Given the description of an element on the screen output the (x, y) to click on. 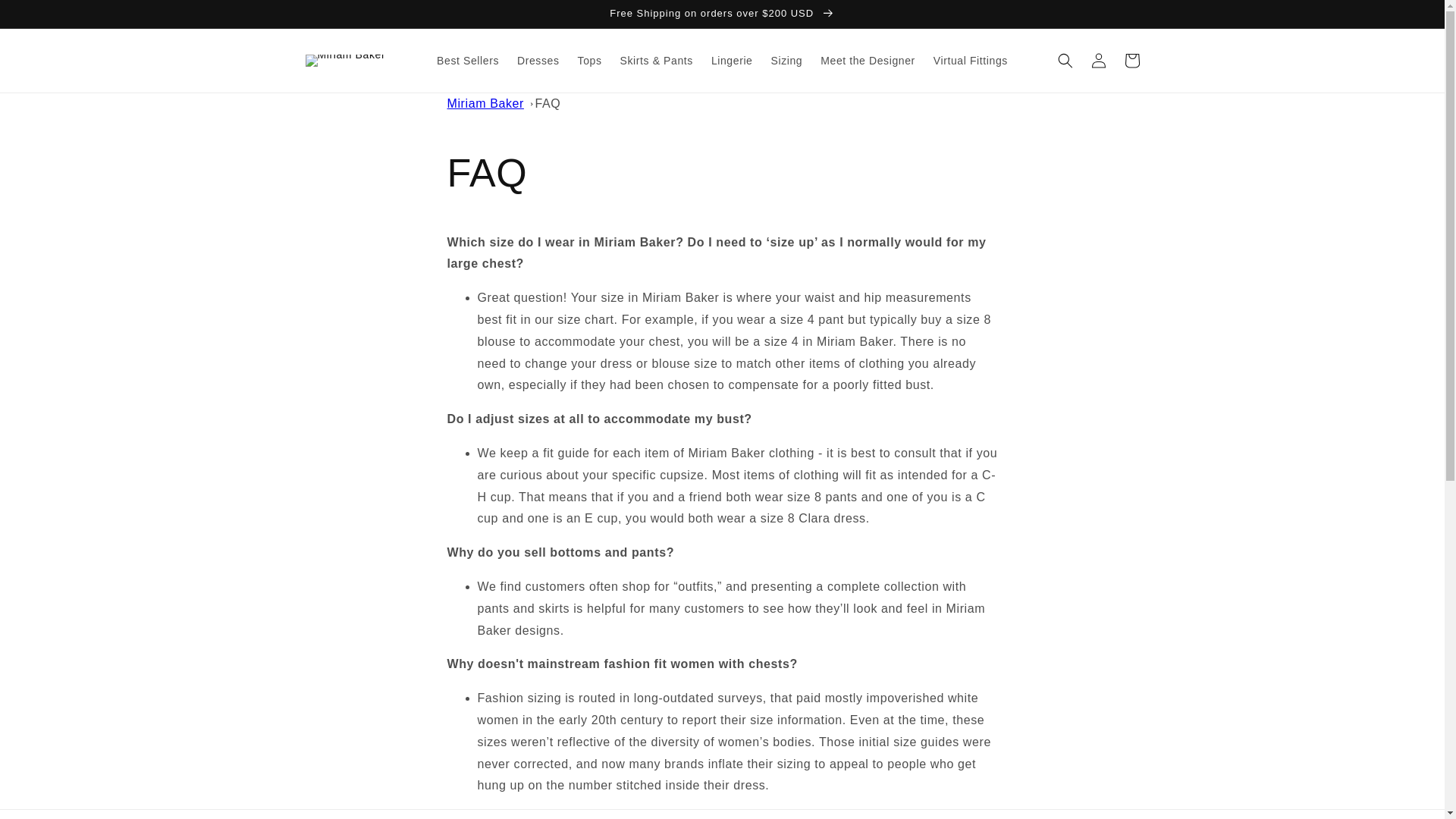
Lingerie (731, 60)
Sizing (785, 60)
Cart (1131, 60)
Tops (590, 60)
Log in (1098, 60)
Virtual Fittings (970, 60)
Best Sellers (468, 60)
FAQ (547, 103)
Meet the Designer (867, 60)
Miriam Baker (485, 103)
